Given the description of an element on the screen output the (x, y) to click on. 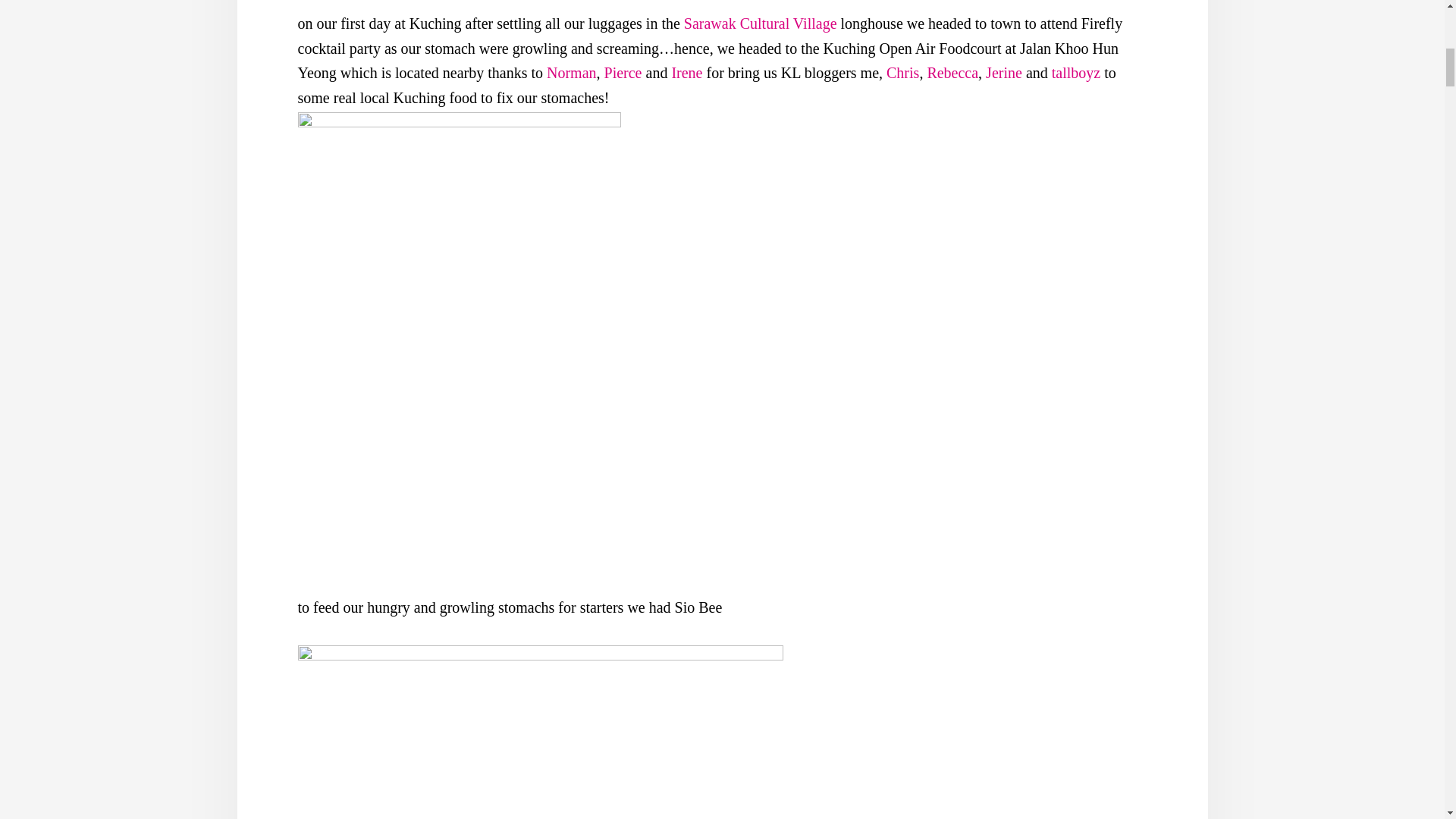
Irene (686, 72)
tallboyz (1075, 72)
Sarawak Cultural Village (760, 23)
Norman (571, 72)
Rebecca (952, 72)
Chris (902, 72)
Jerine (1003, 72)
Pierce (623, 72)
